Given the description of an element on the screen output the (x, y) to click on. 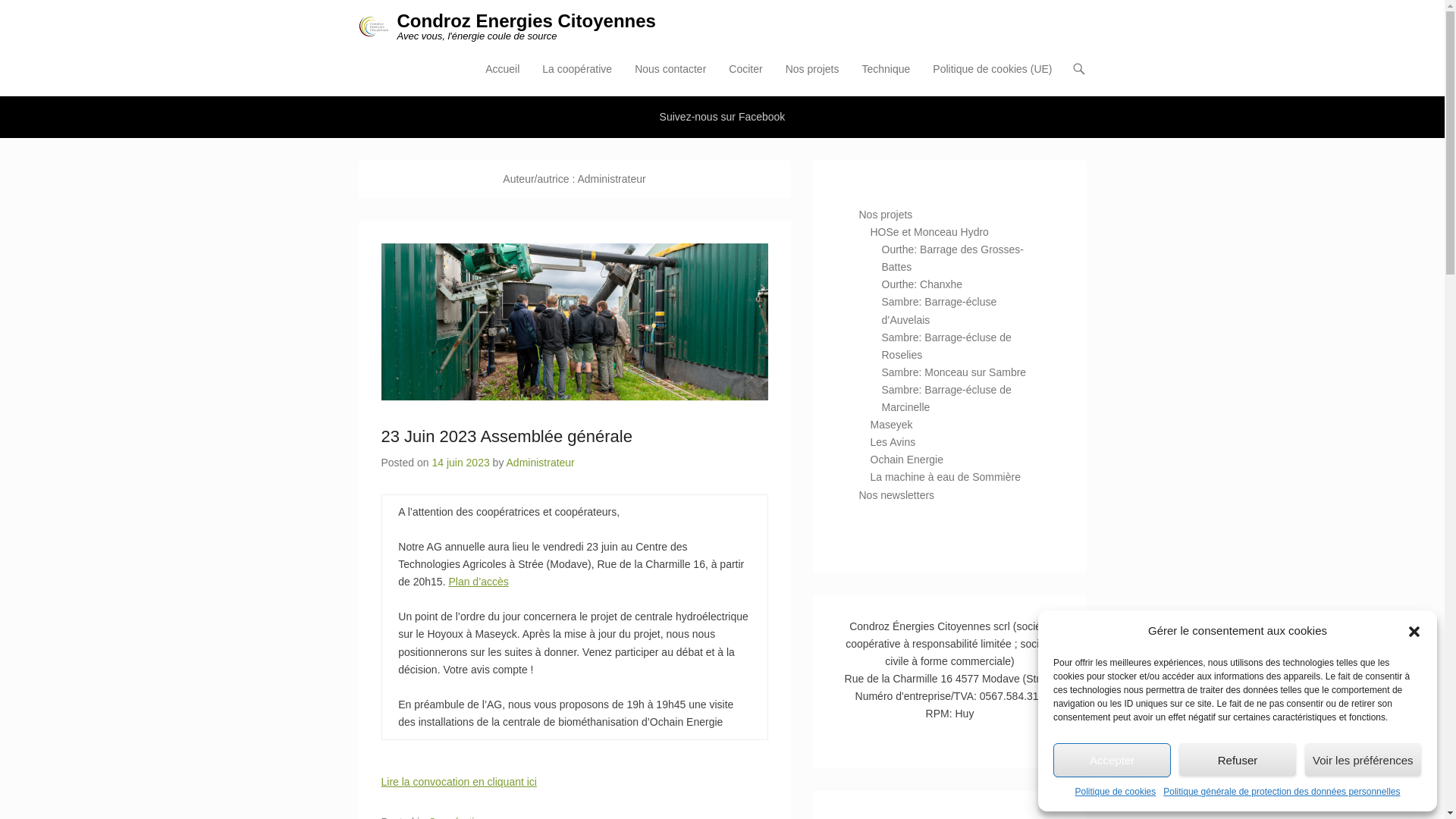
Nous contacter Element type: text (670, 78)
Sambre: Monceau sur Sambre Element type: text (953, 372)
Ochain Energie Element type: text (907, 459)
Ourthe: Barrage des Grosses-Battes Element type: text (952, 258)
14 juin 2023 Element type: text (460, 462)
Nos projets Element type: text (885, 214)
Accueil Element type: text (502, 78)
Maseyek Element type: text (891, 424)
HOSe et Monceau Hydro Element type: text (929, 231)
Condroz Energies Citoyennes Element type: text (526, 20)
Nos newsletters Element type: text (896, 494)
Administrateur Element type: text (540, 462)
Refuser Element type: text (1236, 760)
Lire la convocation en cliquant ici Element type: text (458, 781)
Skip to content Element type: text (512, 69)
Les Avins Element type: text (893, 442)
Cociter Element type: text (745, 78)
Politique de cookies Element type: text (1115, 792)
Ourthe: Chanxhe Element type: text (921, 284)
Accepter Element type: text (1111, 760)
Technique Element type: text (885, 78)
Politique de cookies (UE) Element type: text (992, 78)
Suivez-nous sur Facebook Element type: text (722, 117)
Nos projets Element type: text (812, 78)
